Given the description of an element on the screen output the (x, y) to click on. 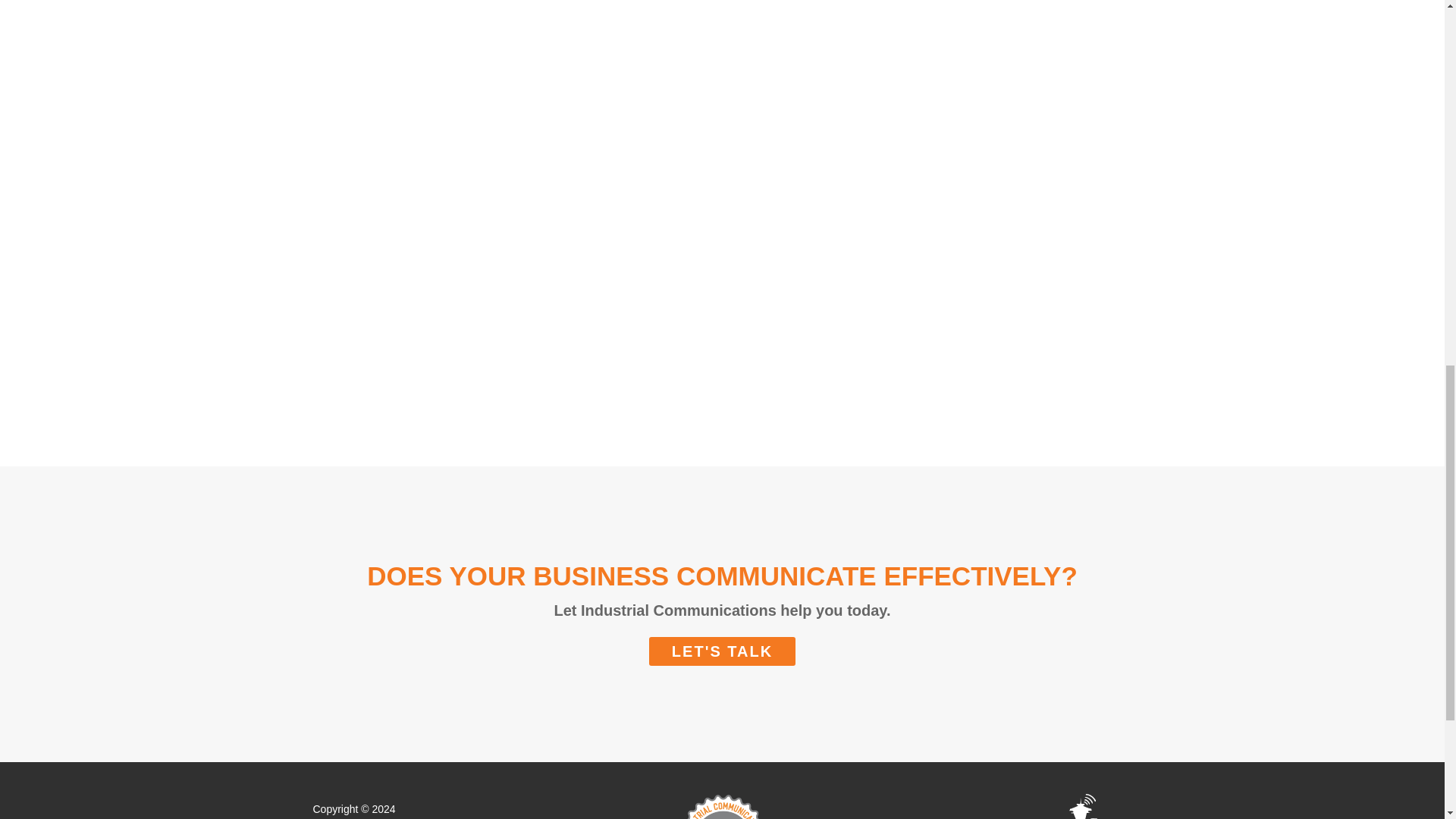
ICSeal2022 (721, 803)
